Given the description of an element on the screen output the (x, y) to click on. 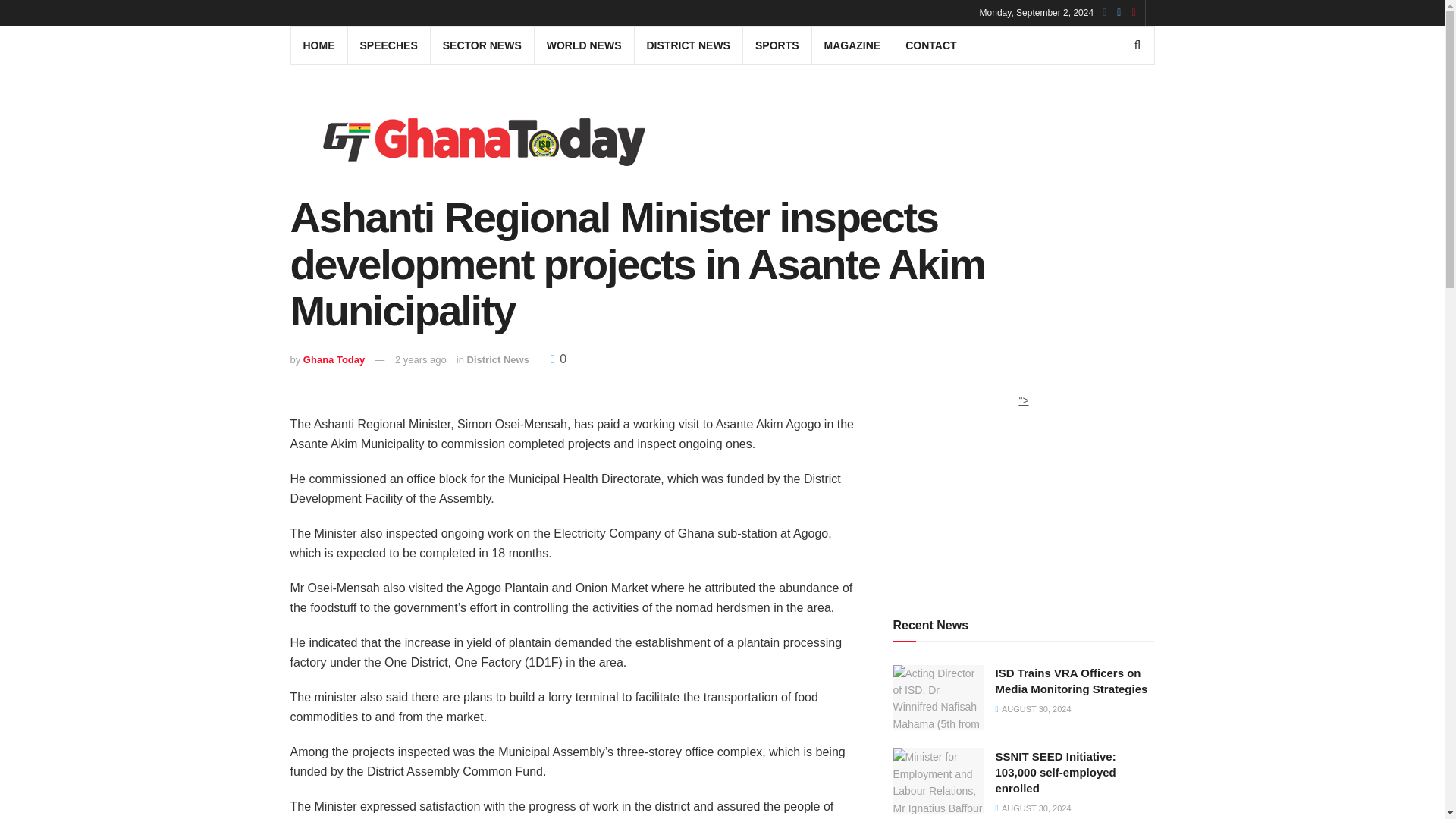
SECTOR NEWS (482, 45)
CONTACT (930, 45)
DISTRICT NEWS (687, 45)
SPORTS (776, 45)
SPEECHES (388, 45)
MAGAZINE (852, 45)
HOME (319, 45)
WORLD NEWS (583, 45)
